Given the description of an element on the screen output the (x, y) to click on. 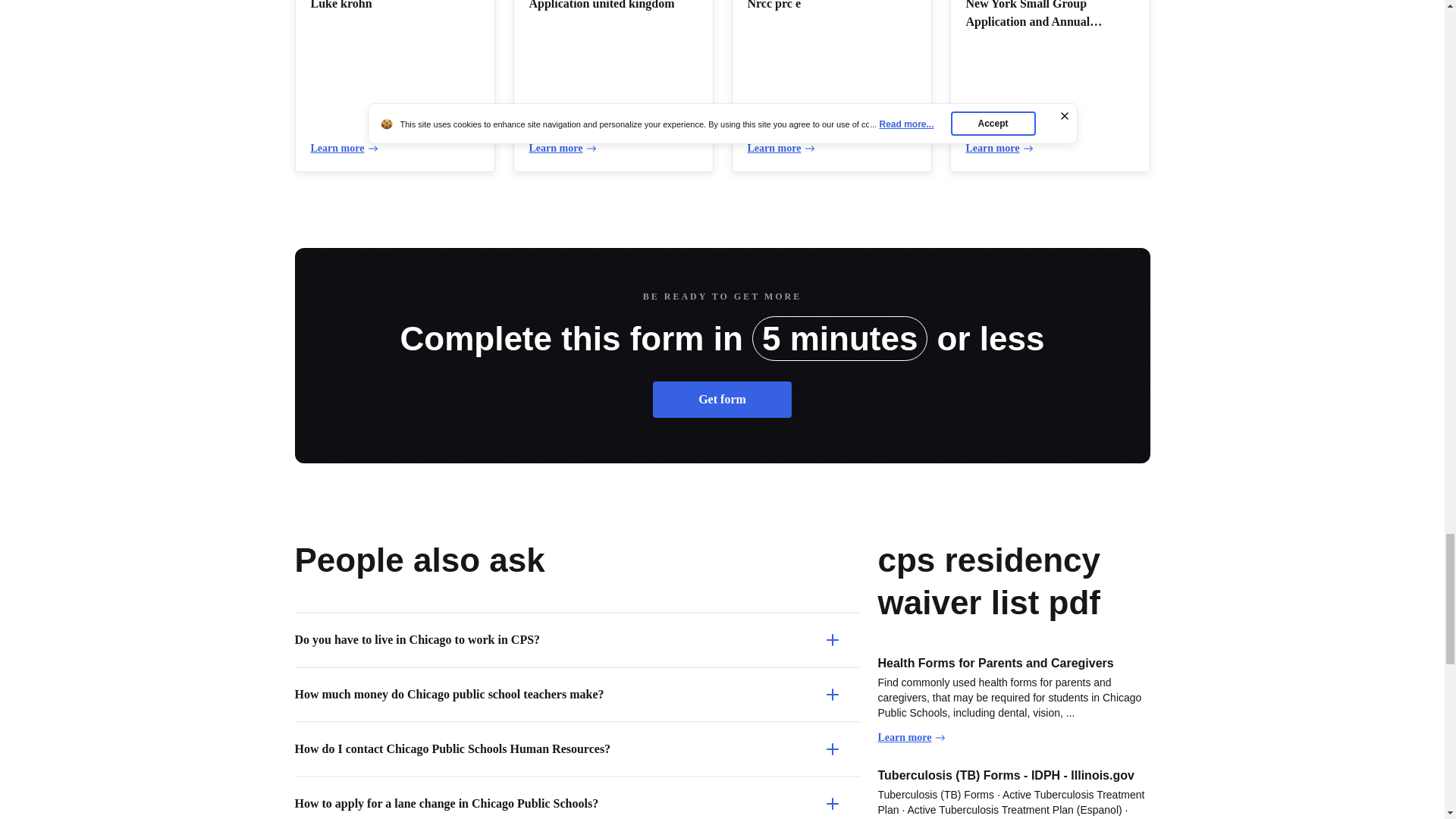
Learn more (999, 148)
Learn more (781, 148)
Learn more (910, 737)
Learn more (344, 148)
Get form (722, 399)
Learn more (562, 148)
